Given the description of an element on the screen output the (x, y) to click on. 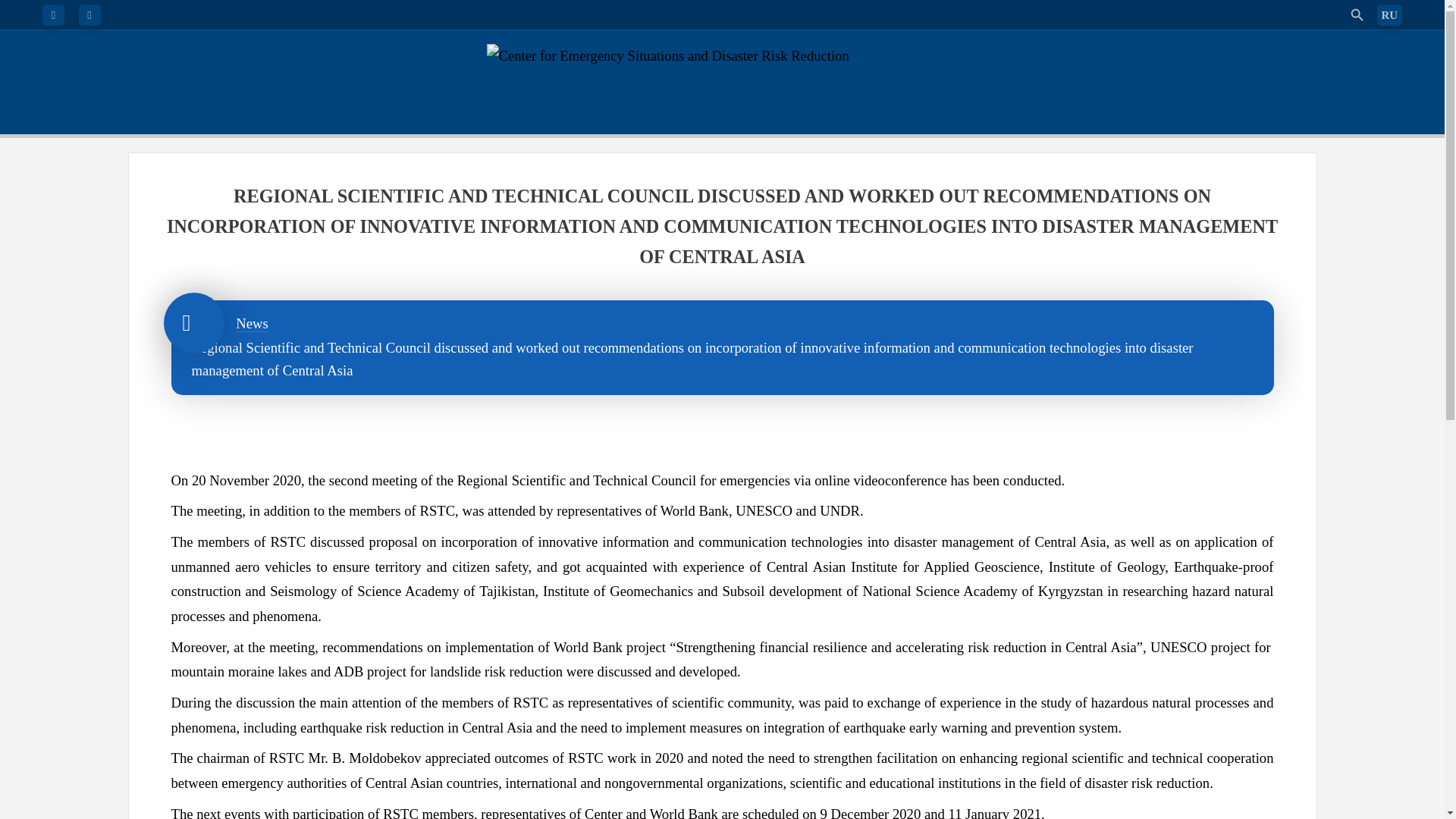
Main (193, 322)
News (251, 323)
RU (1390, 14)
